Given the description of an element on the screen output the (x, y) to click on. 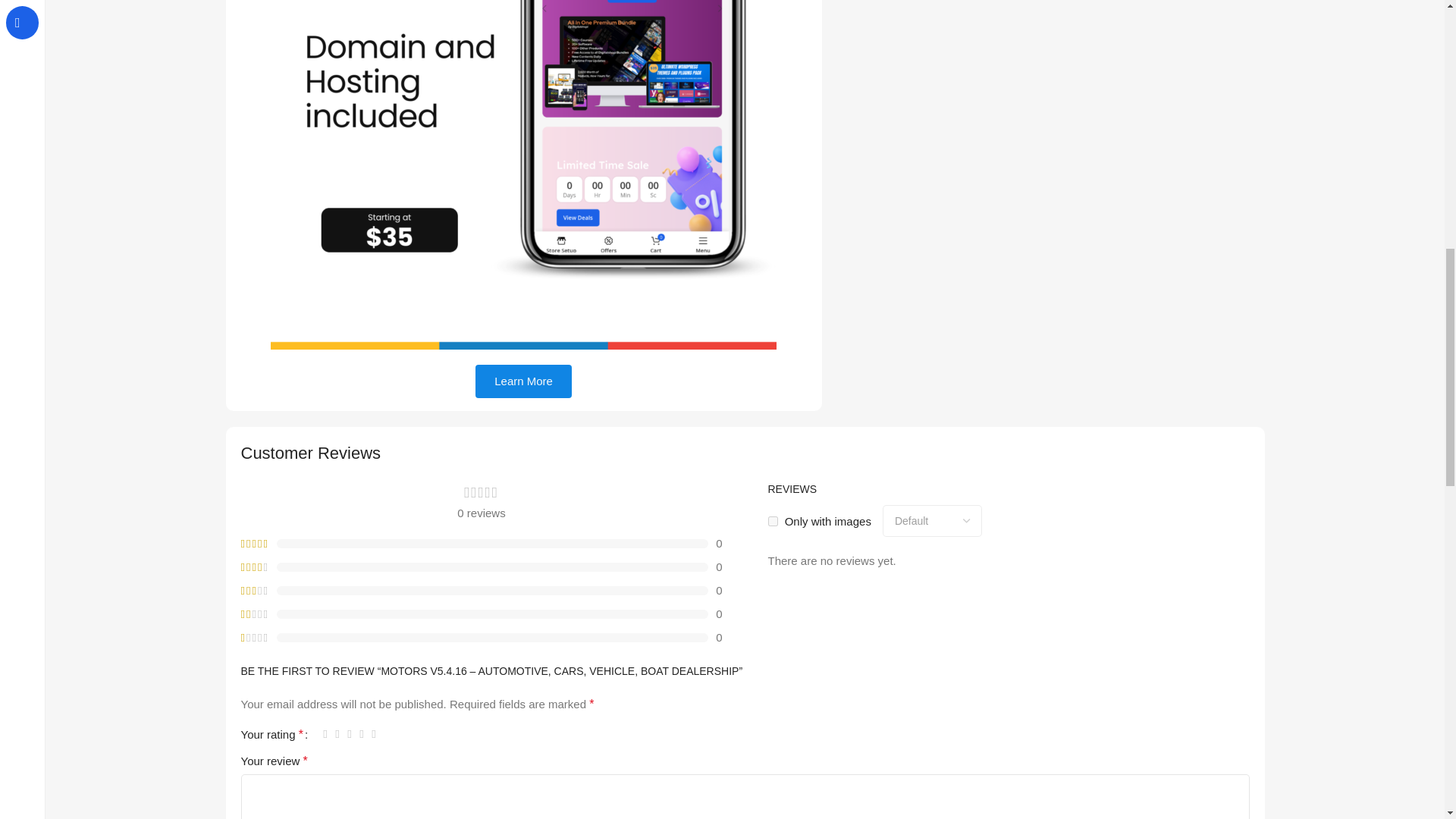
on (772, 521)
